Given the description of an element on the screen output the (x, y) to click on. 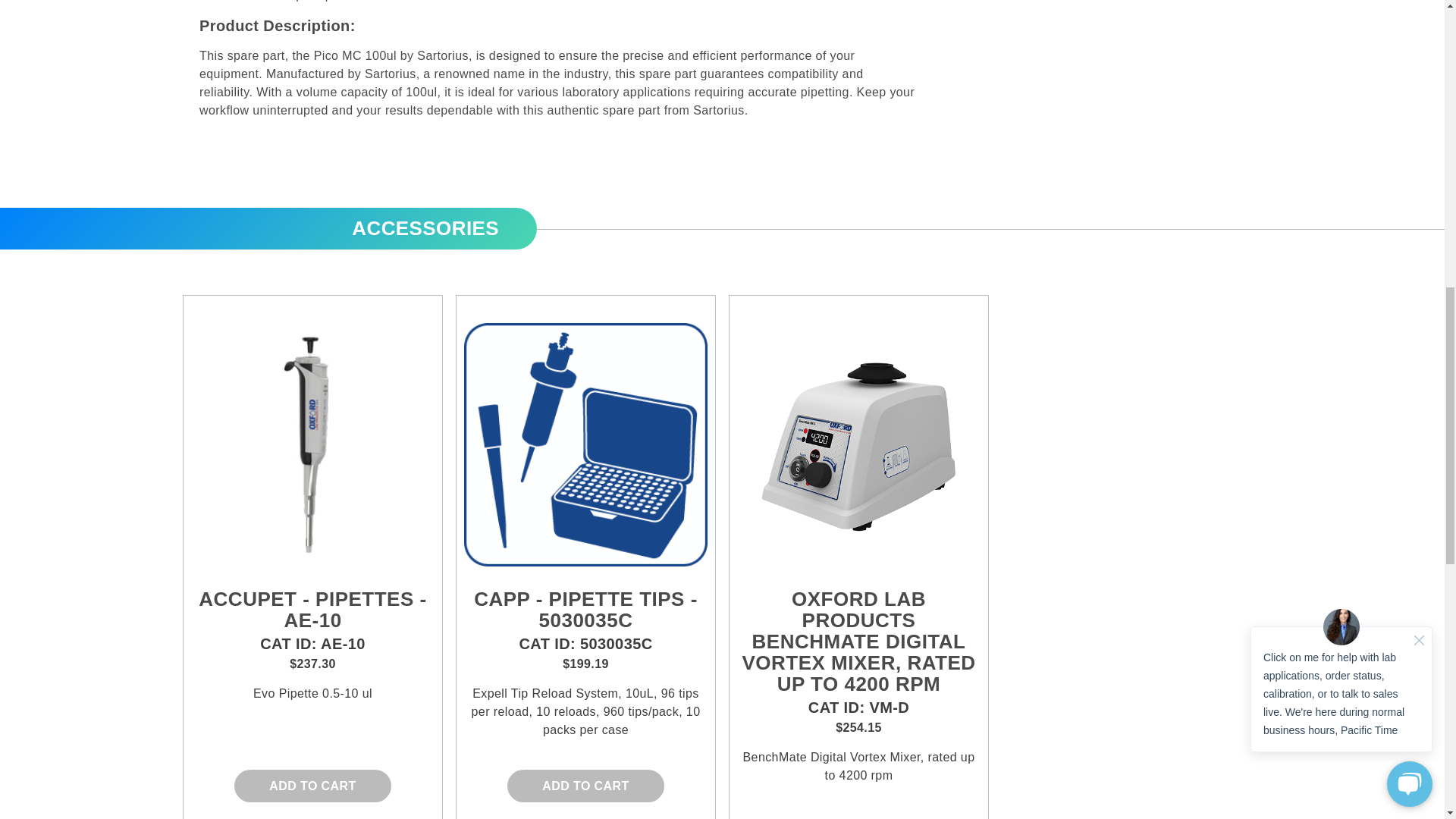
Add to Cart (311, 785)
Add to Cart (585, 785)
